Given the description of an element on the screen output the (x, y) to click on. 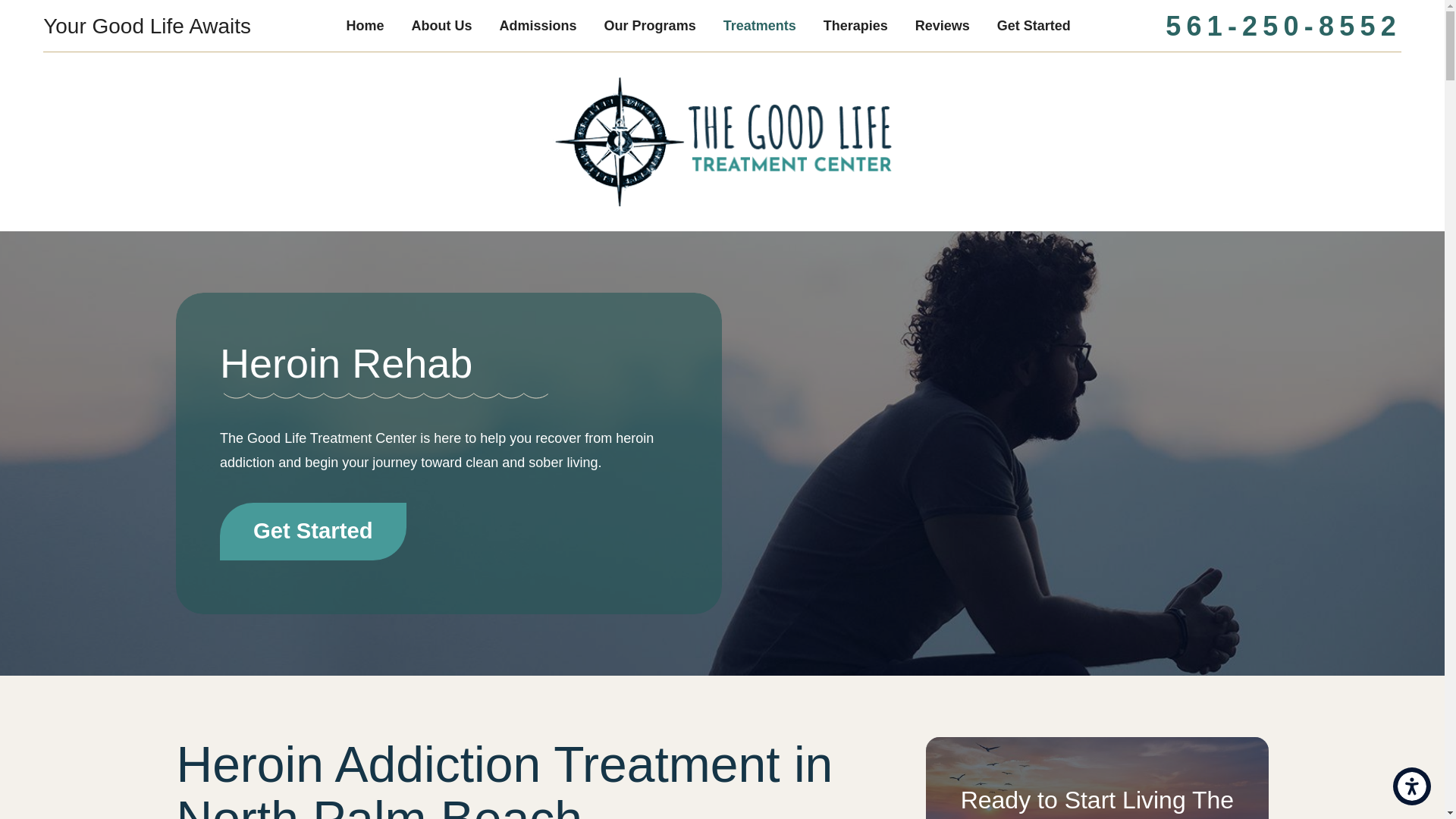
561-250-8552 (1283, 25)
Get Started (1034, 25)
Reviews (942, 25)
Home (365, 25)
Therapies (855, 25)
Open the accessibility options menu (1412, 786)
The Good Life Treatment Center (722, 141)
Treatments (759, 25)
Our Programs (650, 25)
About Us (441, 25)
Admissions (538, 25)
